Given the description of an element on the screen output the (x, y) to click on. 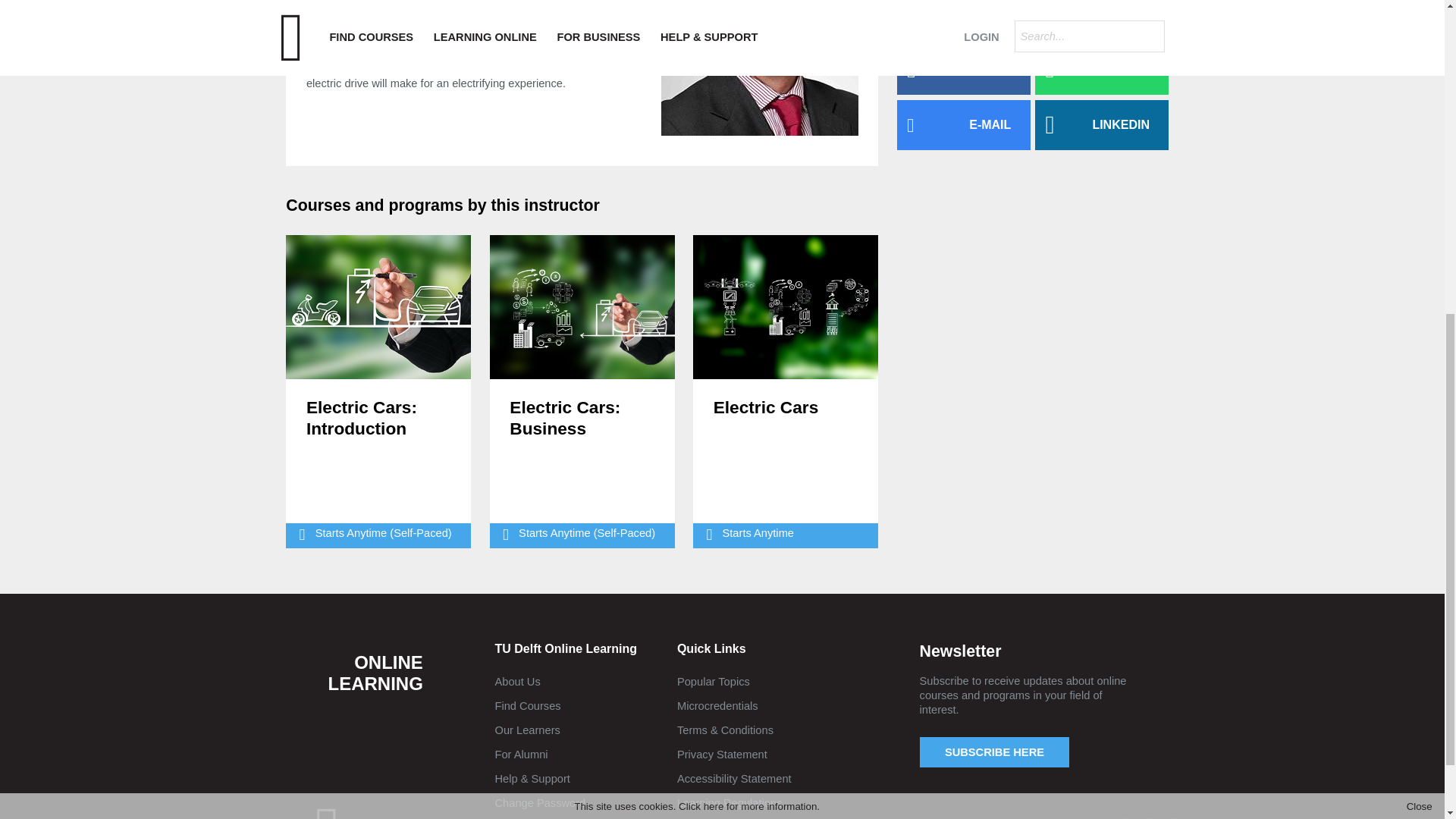
LINKEDIN (1102, 124)
Microcredentials (733, 705)
SUBSCRIBE HERE (995, 752)
For Alumni (540, 754)
About Us (540, 681)
FACEBOOK (963, 69)
Our Learners (540, 730)
Accessibility Statement (733, 778)
Learning Regulations (733, 802)
E-MAIL (963, 124)
